Given the description of an element on the screen output the (x, y) to click on. 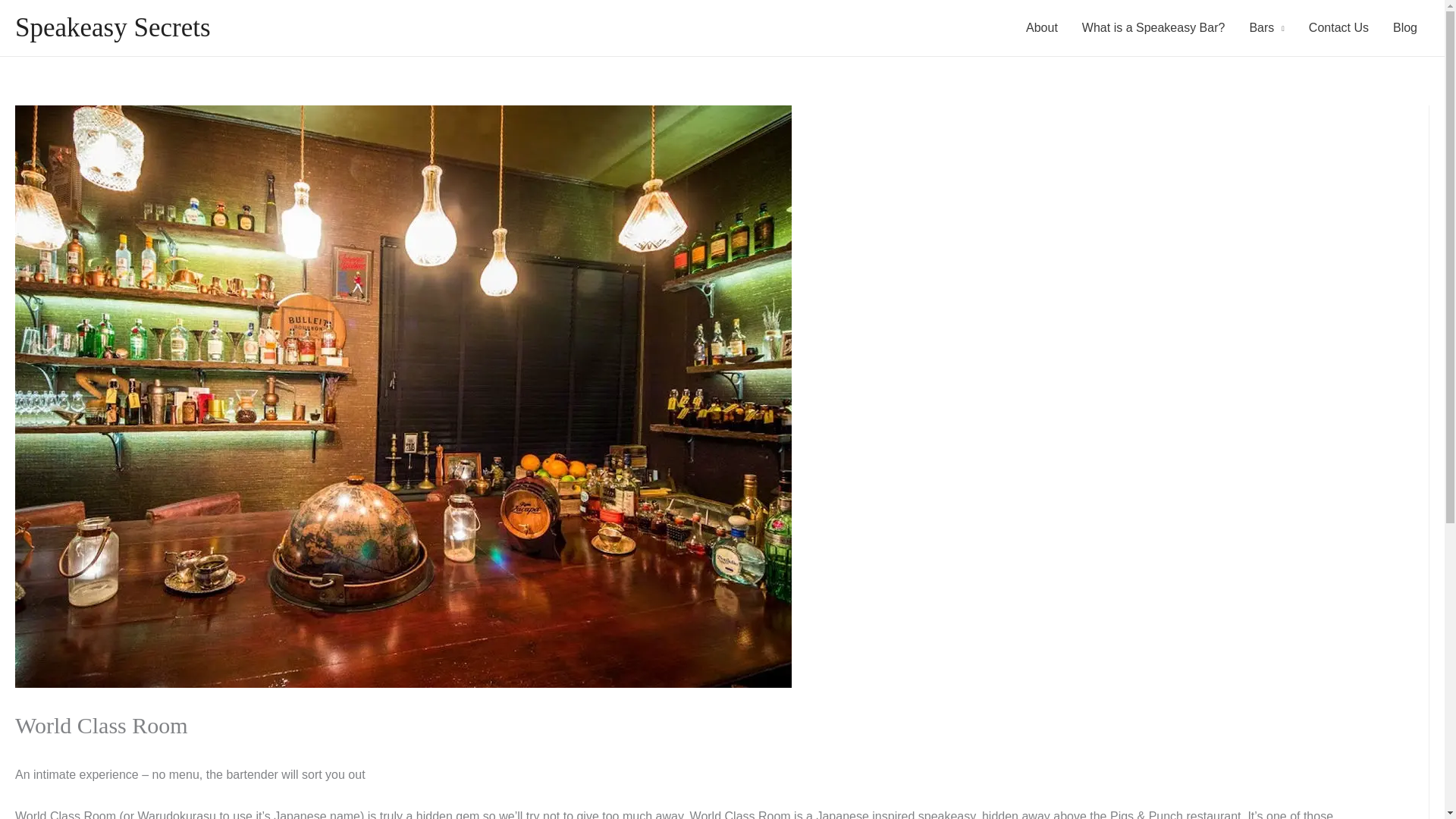
Speakeasy Secrets (112, 27)
Contact Us (1338, 28)
Bars (1265, 28)
What is a Speakeasy Bar? (1153, 28)
About (1041, 28)
